Given the description of an element on the screen output the (x, y) to click on. 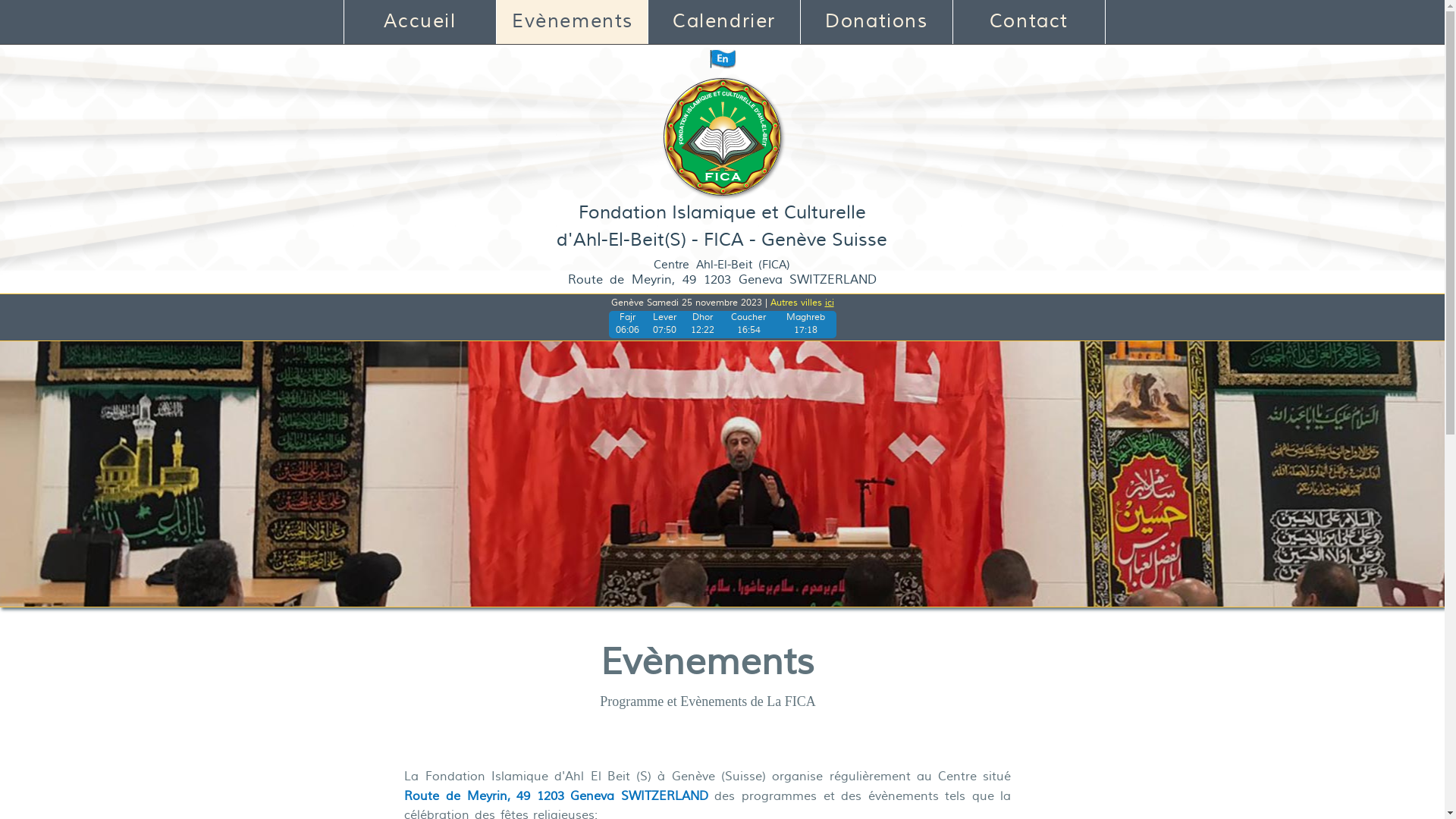
Contact Element type: text (1028, 21)
Route de Meyrin, 49 1203 Geneva SWITZERLAND Element type: text (555, 795)
Accueil Element type: text (419, 21)
Donations Element type: text (876, 21)
Calendrier Element type: text (723, 21)
English version Element type: hover (722, 57)
Autres villes ici Element type: text (802, 302)
